Given the description of an element on the screen output the (x, y) to click on. 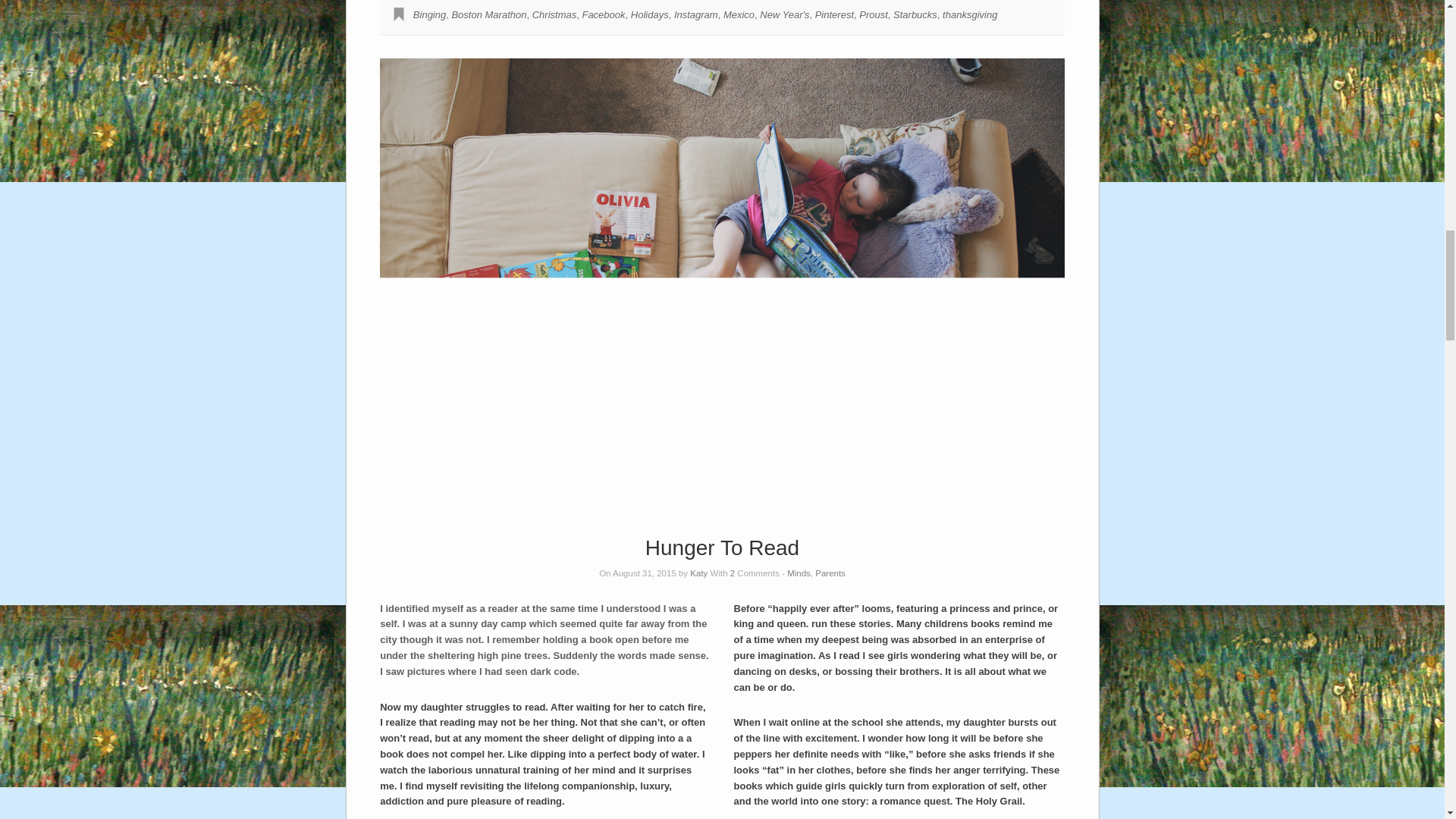
Mexico (738, 14)
Pinterest (834, 14)
Starbucks (915, 14)
Boston Marathon (488, 14)
Proust (873, 14)
Holidays (649, 14)
Binging (429, 14)
New Year's (784, 14)
Minds (798, 573)
Hunger To Read (722, 547)
